Given the description of an element on the screen output the (x, y) to click on. 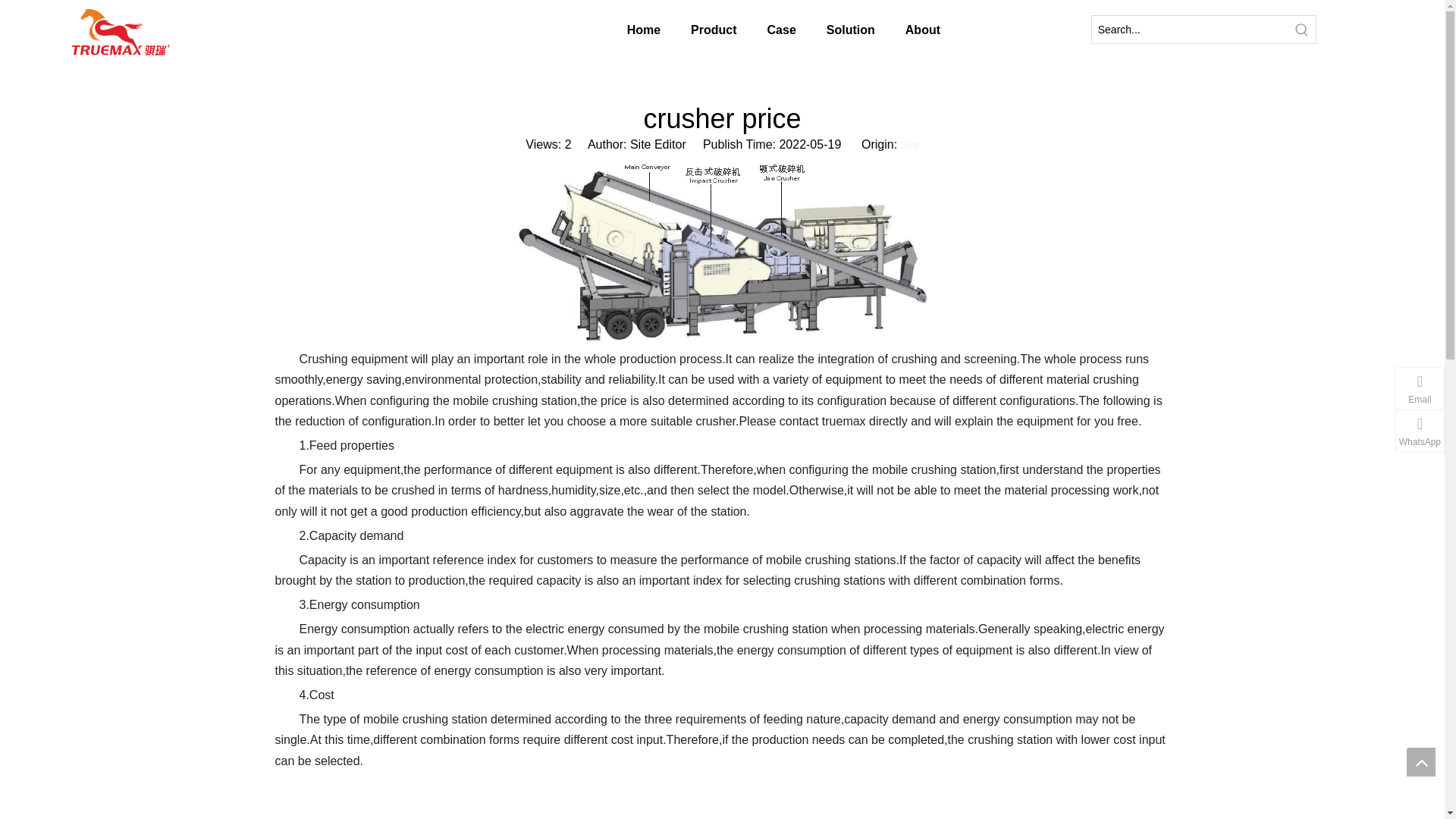
About (922, 30)
Solution (849, 30)
Product (713, 30)
Case (781, 30)
Home (643, 30)
